Given the description of an element on the screen output the (x, y) to click on. 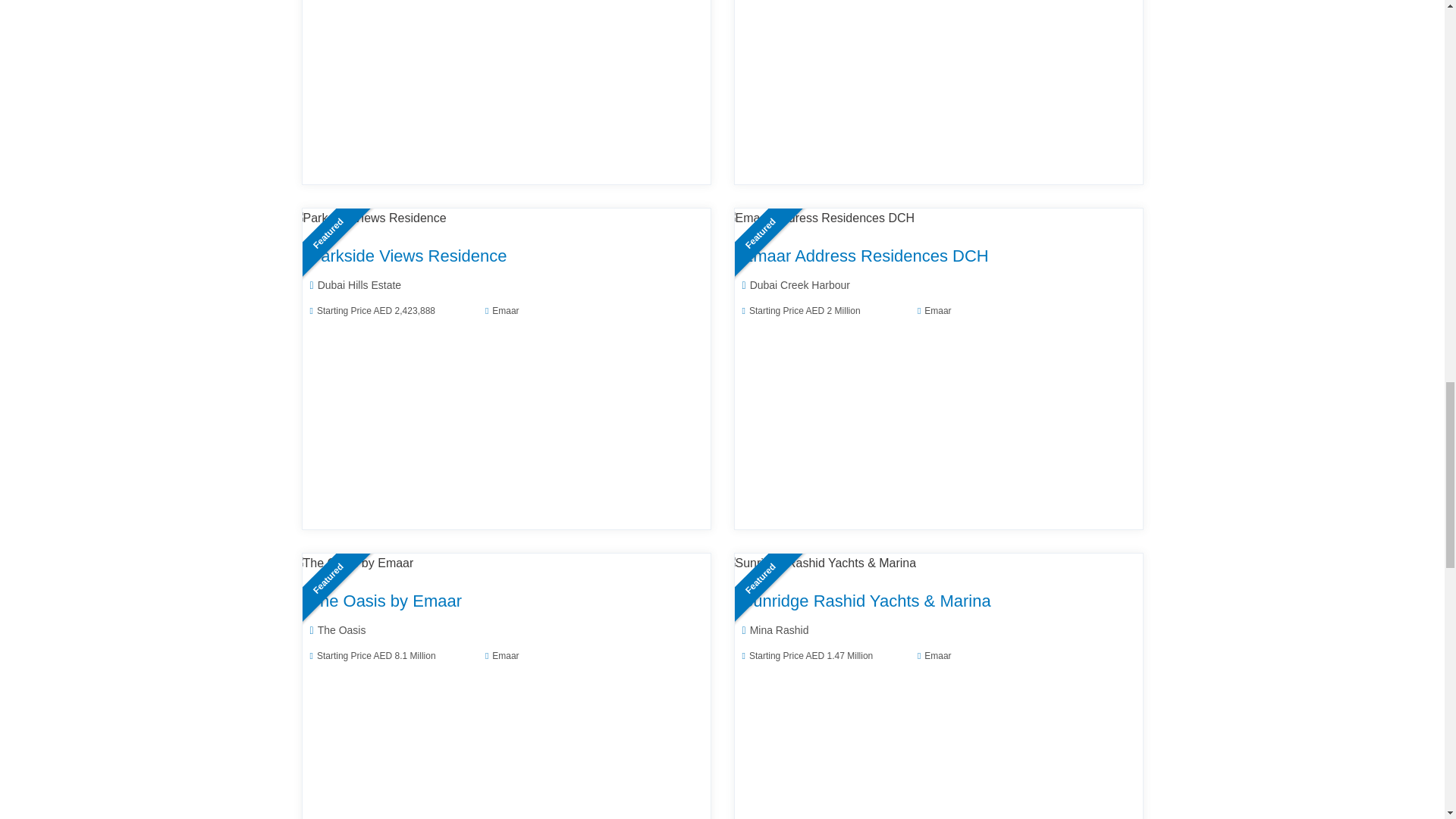
The Oasis by Emaar (352, 563)
Emaar Address Residences DCH (819, 218)
Parkside Views Residence (368, 218)
